Given the description of an element on the screen output the (x, y) to click on. 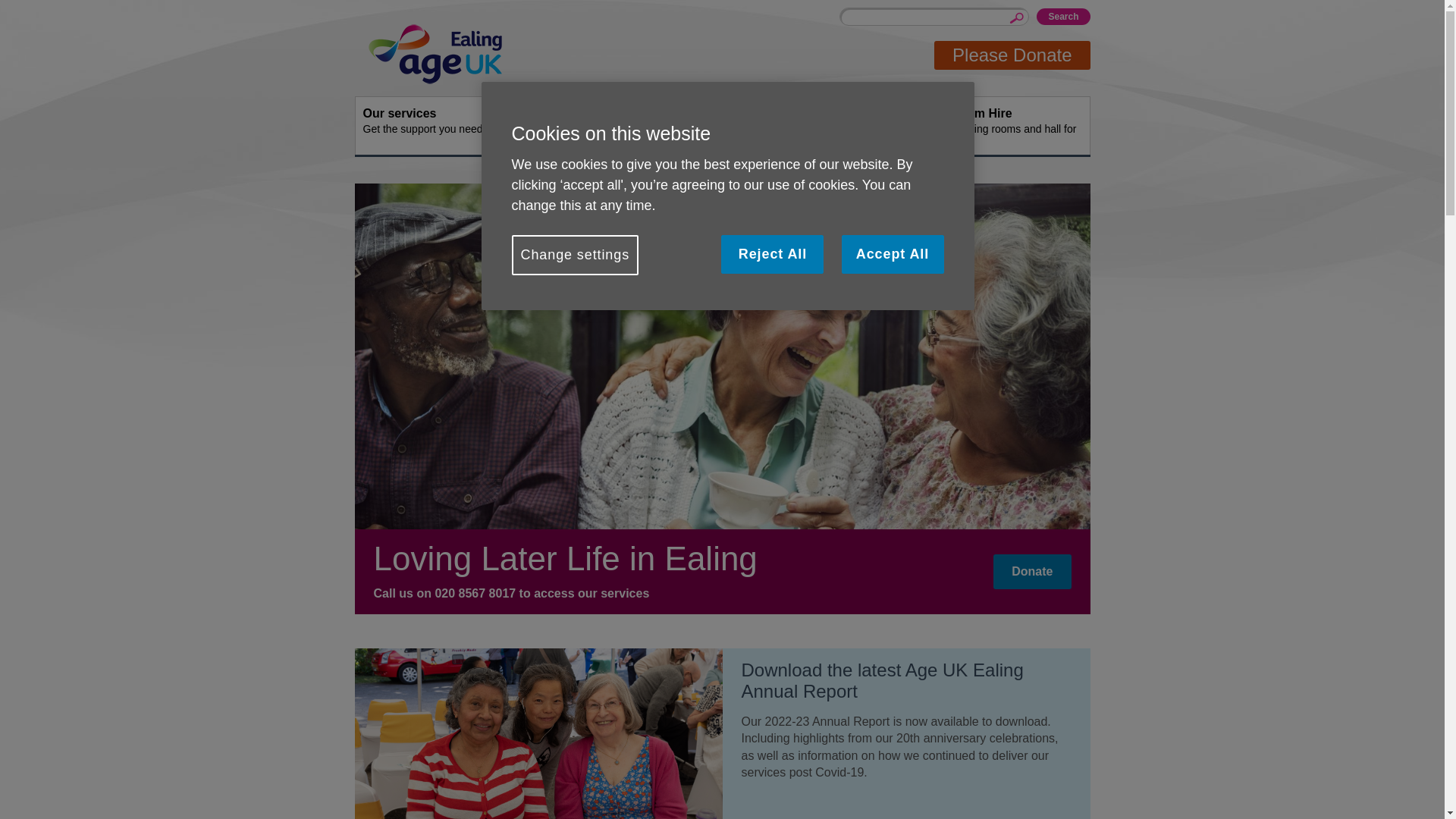
Search (869, 125)
Search (427, 125)
Search (1062, 16)
Please Donate (1062, 16)
